Given the description of an element on the screen output the (x, y) to click on. 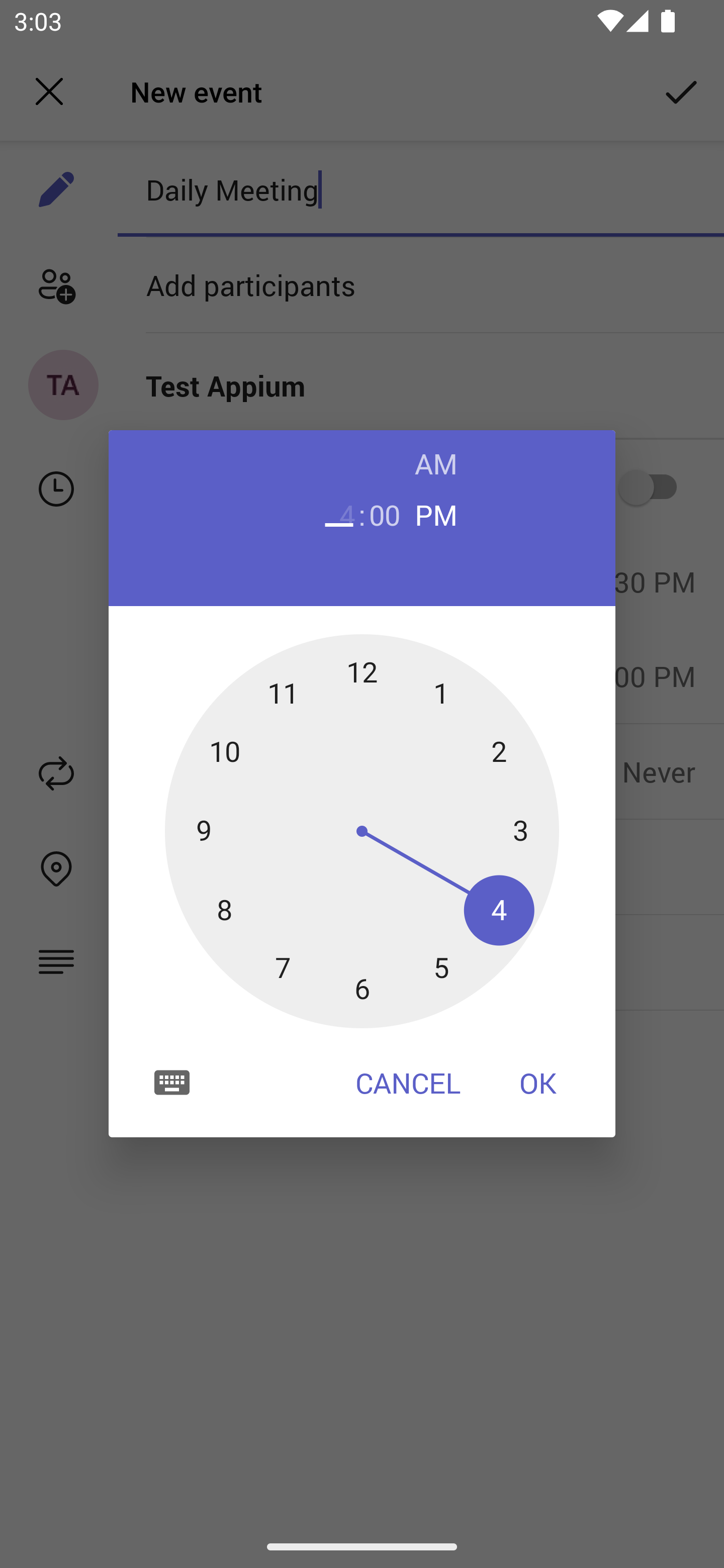
AM (435, 463)
PM (435, 514)
4 (338, 514)
00 (384, 514)
CANCEL (407, 1082)
OK (537, 1082)
Switch to text input mode for the time input. (171, 1081)
